Given the description of an element on the screen output the (x, y) to click on. 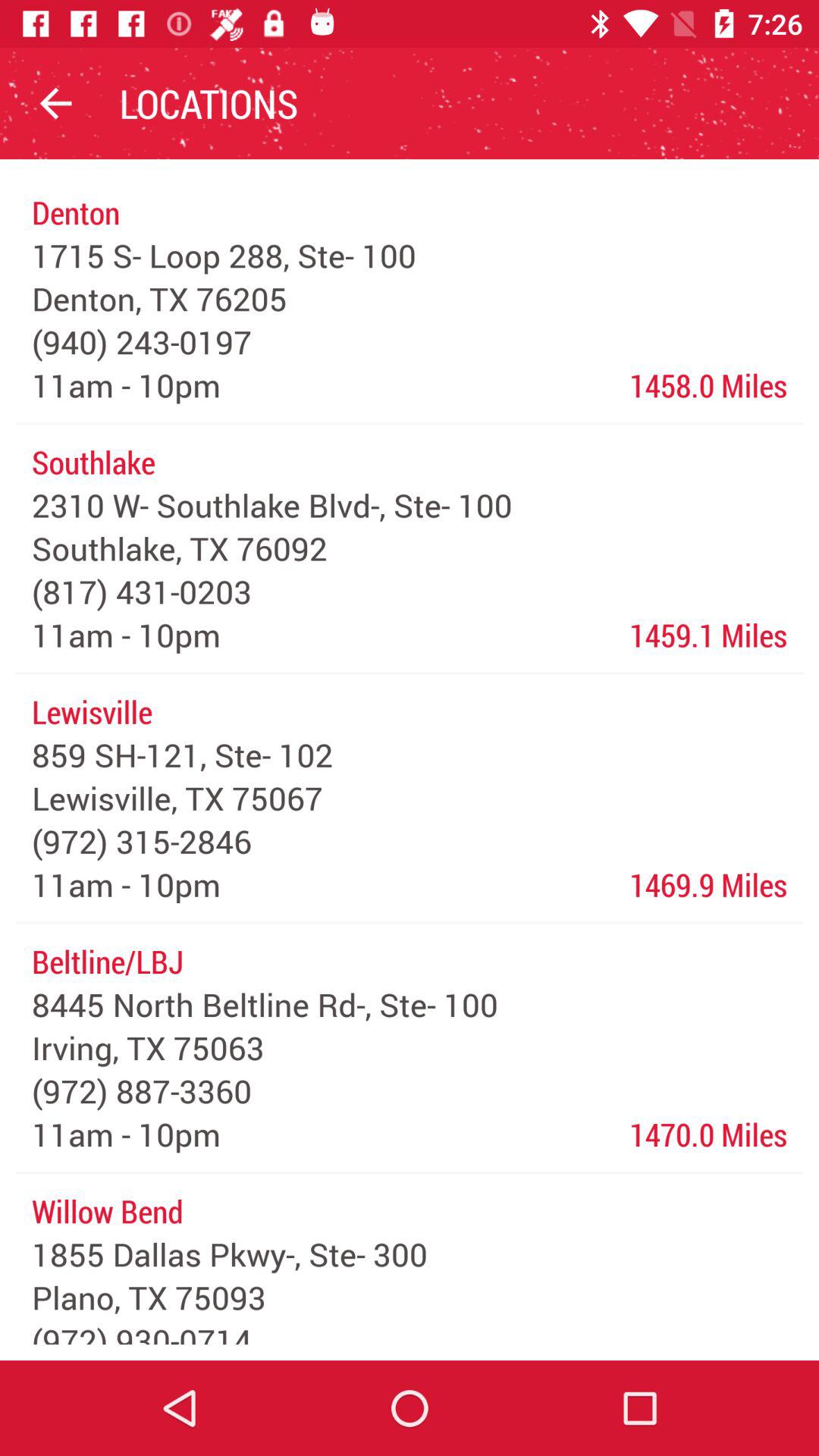
choose icon above denton (55, 103)
